Given the description of an element on the screen output the (x, y) to click on. 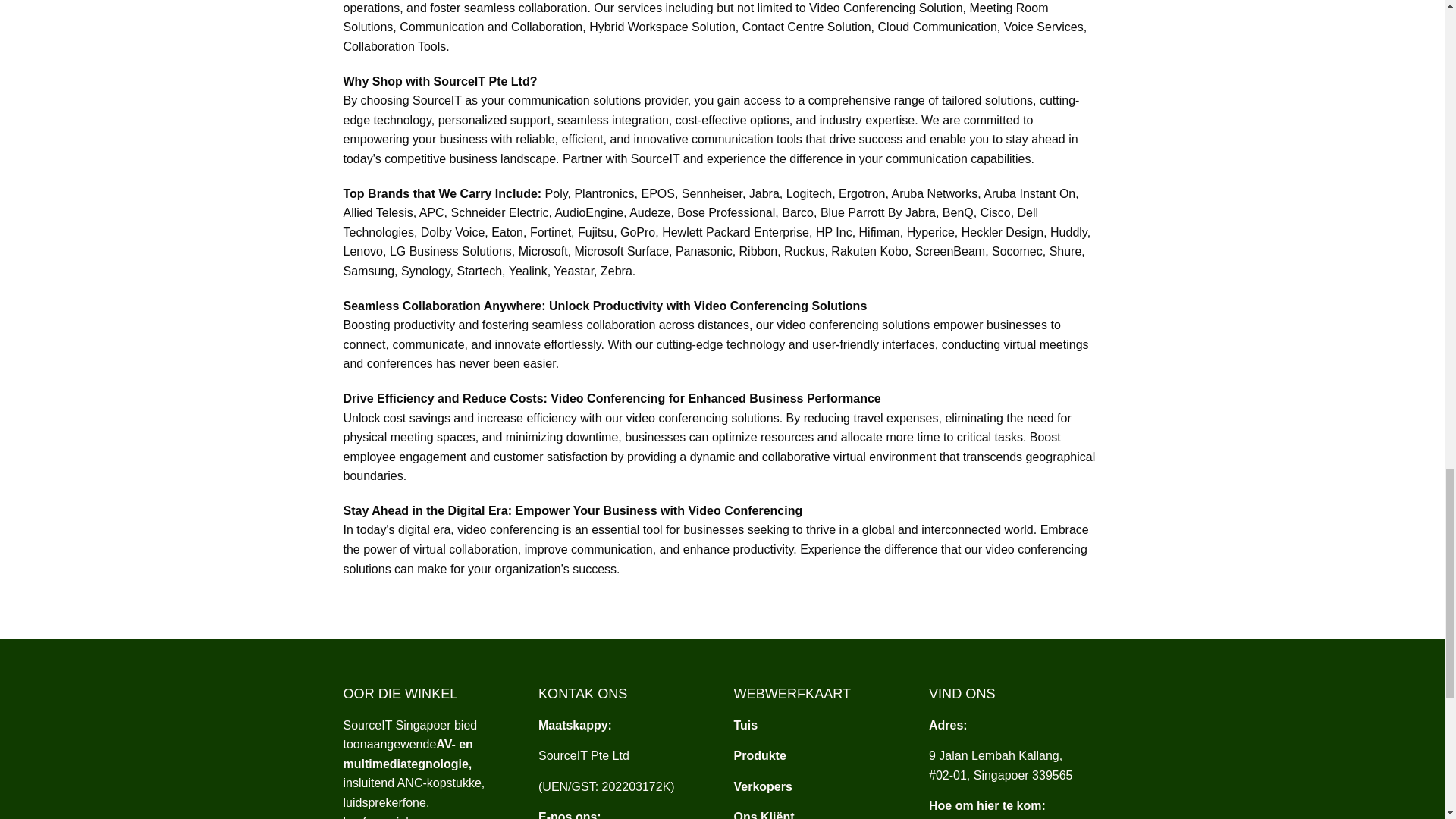
SourceIT - Videokonferensieverskaffer in Singapoer (745, 725)
Handelsmerke waarmee ons werk (762, 786)
Oor SourceIT Pte Ltd (406, 753)
Ons Versamelings (759, 755)
